Given the description of an element on the screen output the (x, y) to click on. 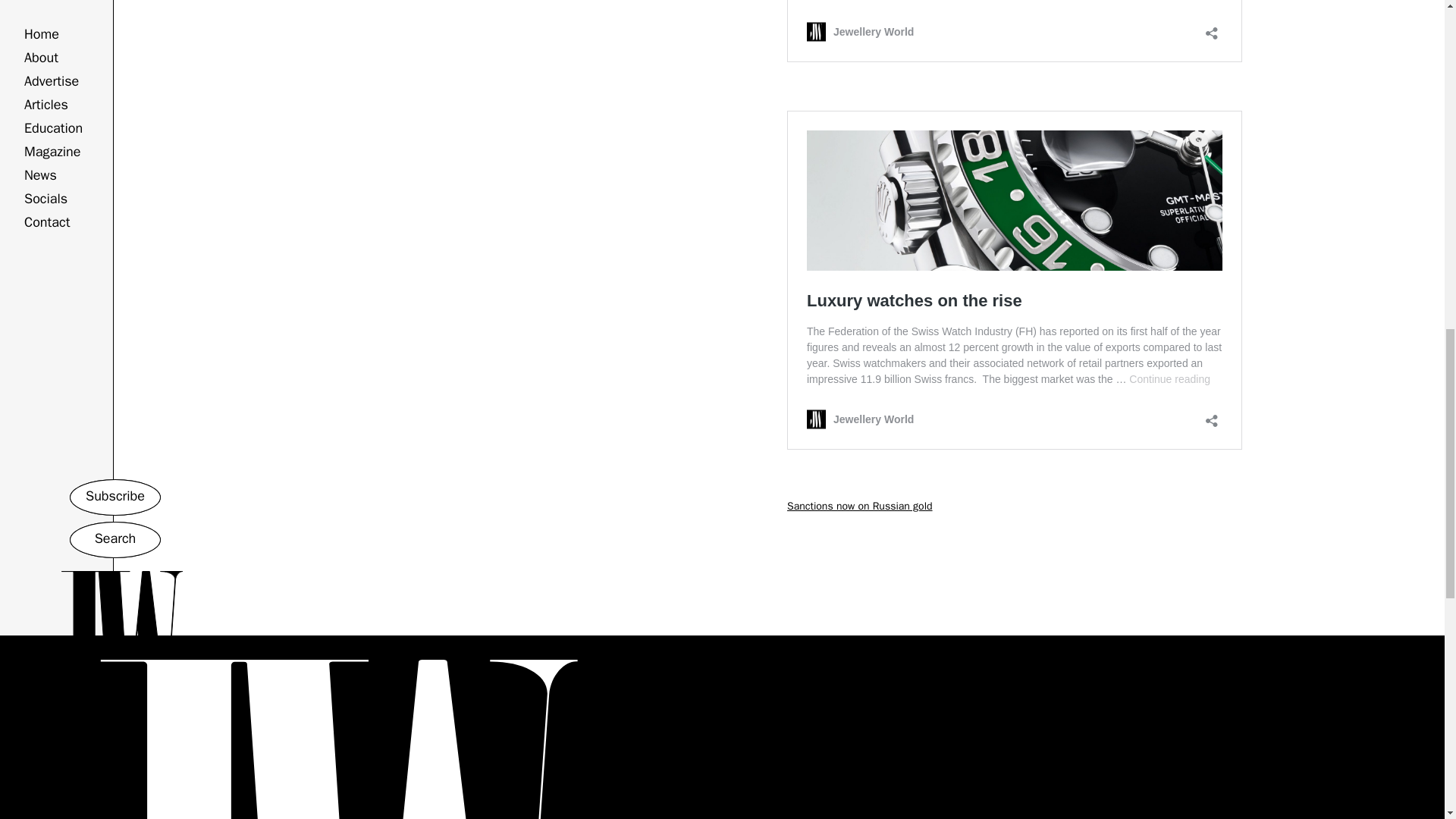
Sanctions now on Russian gold (860, 505)
